Given the description of an element on the screen output the (x, y) to click on. 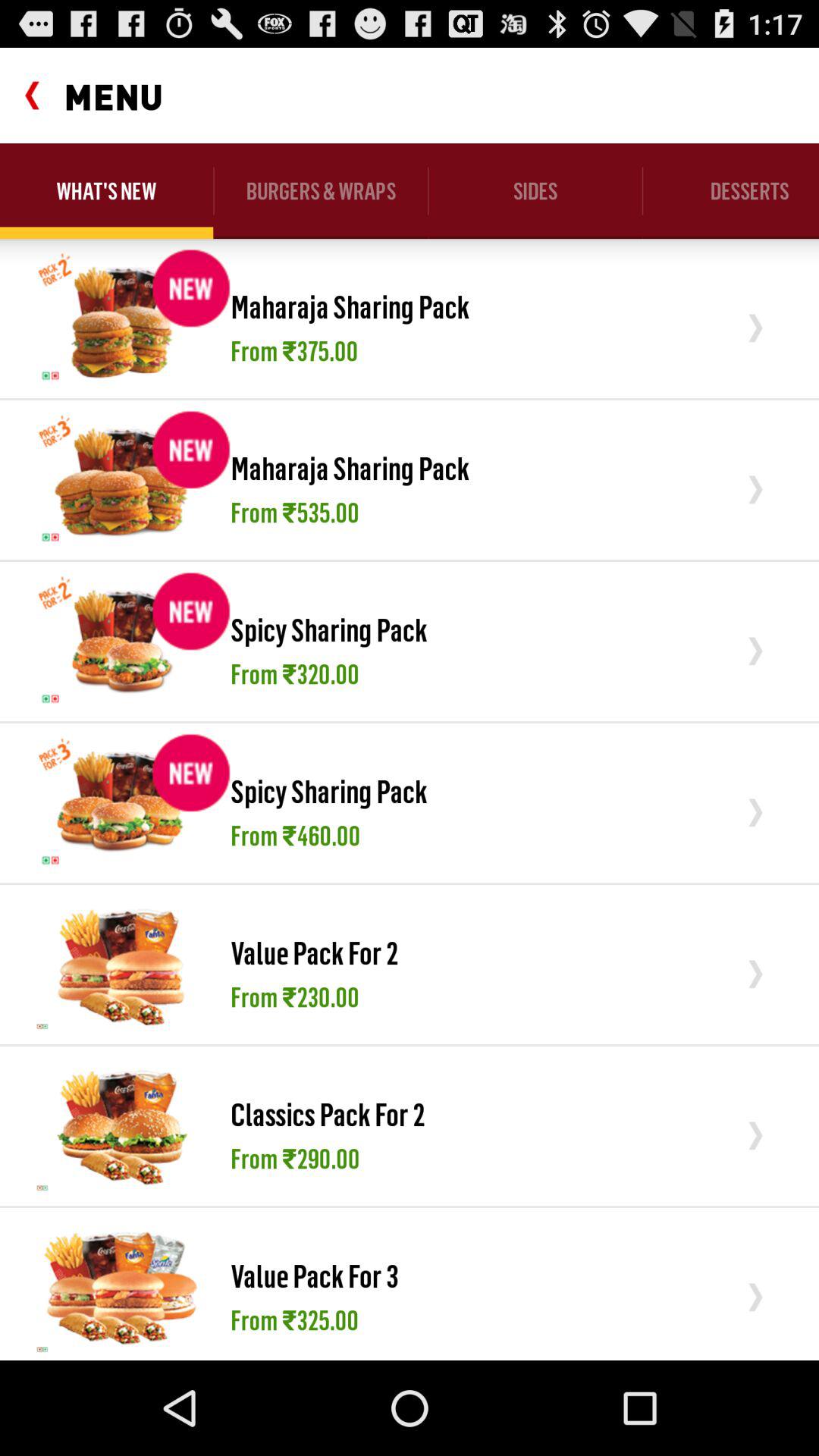
click the icon next to the classics pack for item (121, 1125)
